Given the description of an element on the screen output the (x, y) to click on. 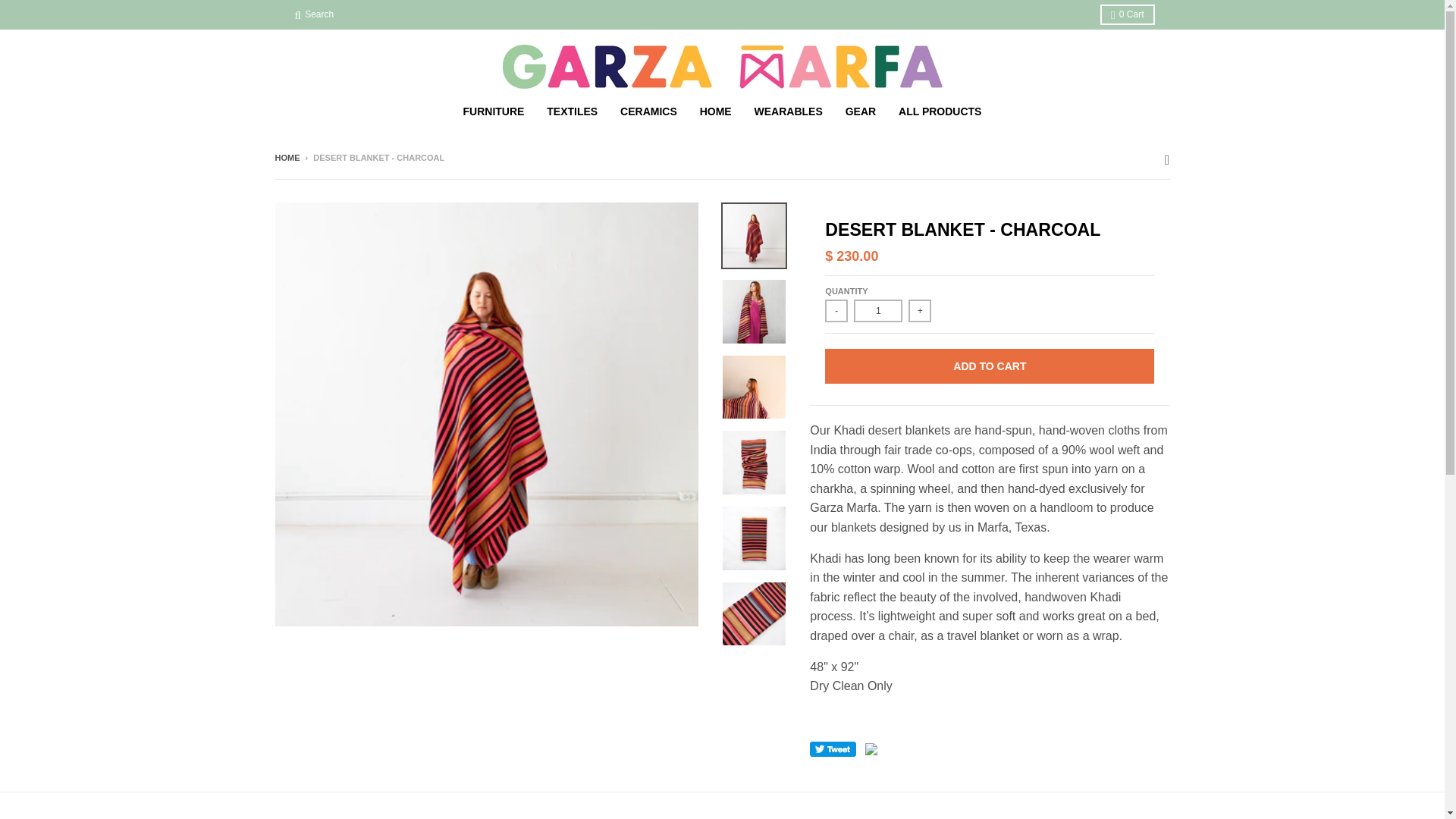
TEXTILES (572, 111)
WEARABLES (788, 111)
Tweet (832, 749)
HOME (287, 157)
CERAMICS (648, 111)
FURNITURE (493, 111)
GEAR (860, 111)
Search (313, 14)
- (836, 310)
HOME (715, 111)
1 (877, 310)
ADD TO CART (989, 366)
0 Cart (1127, 14)
ALL PRODUCTS (939, 111)
Back to the frontpage (287, 157)
